Given the description of an element on the screen output the (x, y) to click on. 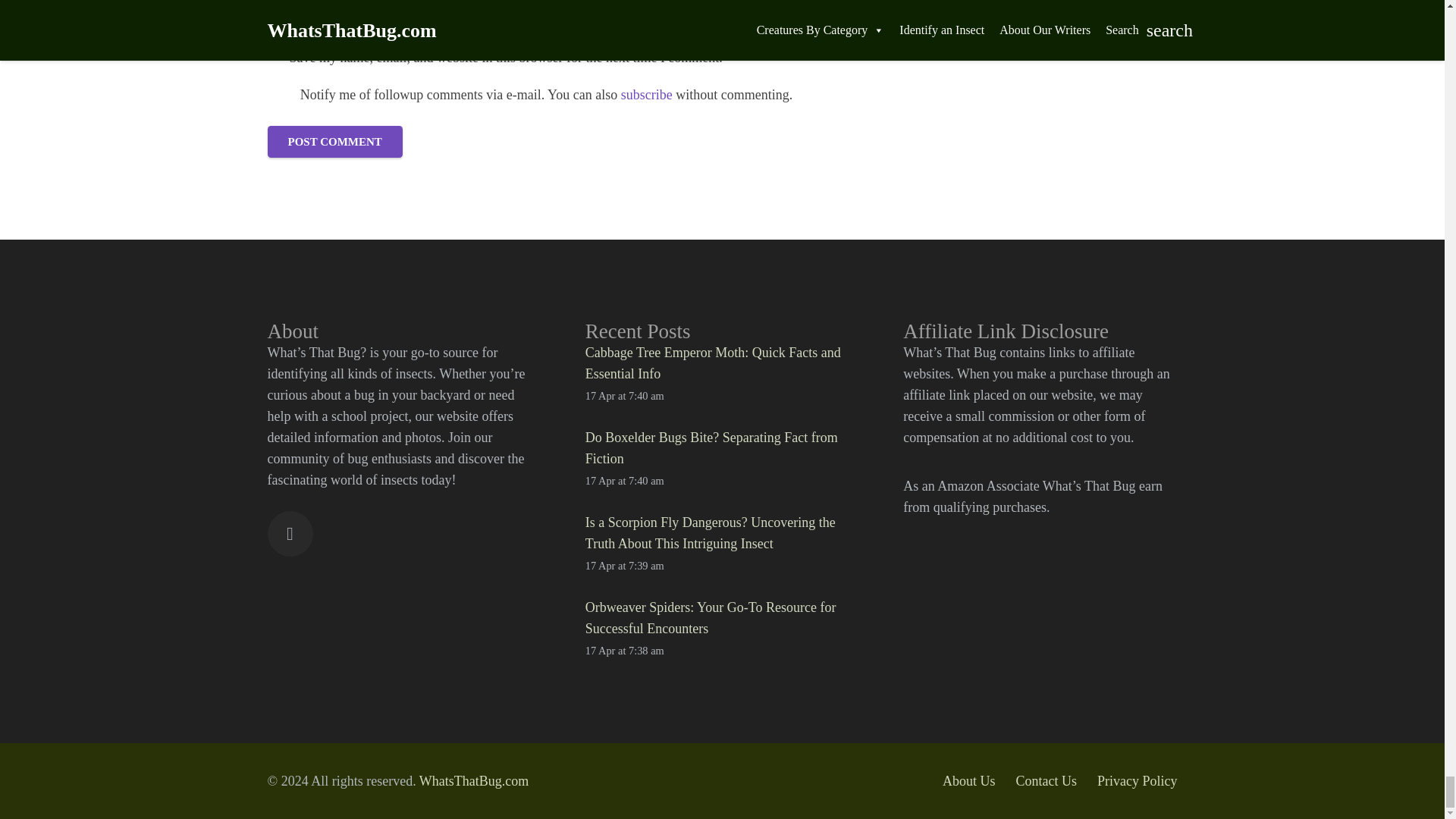
yes (278, 94)
1 (274, 58)
